Given the description of an element on the screen output the (x, y) to click on. 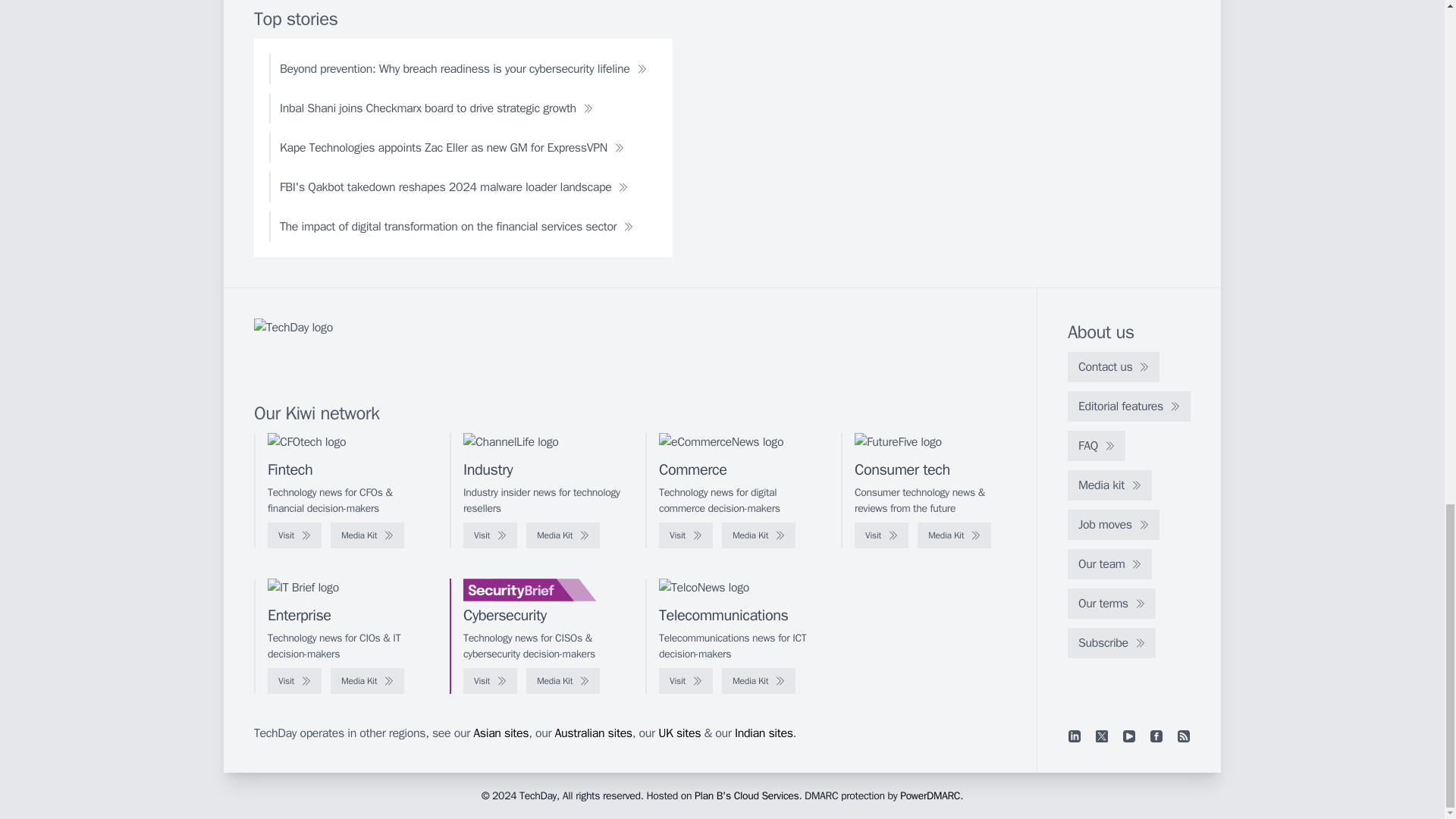
Media Kit (758, 534)
Visit (294, 534)
Visit (881, 534)
Visit (686, 534)
Visit (489, 534)
Media Kit (367, 534)
Inbal Shani joins Checkmarx board to drive strategic growth (436, 108)
FBI's Qakbot takedown reshapes 2024 malware loader landscape (454, 186)
Media Kit (562, 534)
